Given the description of an element on the screen output the (x, y) to click on. 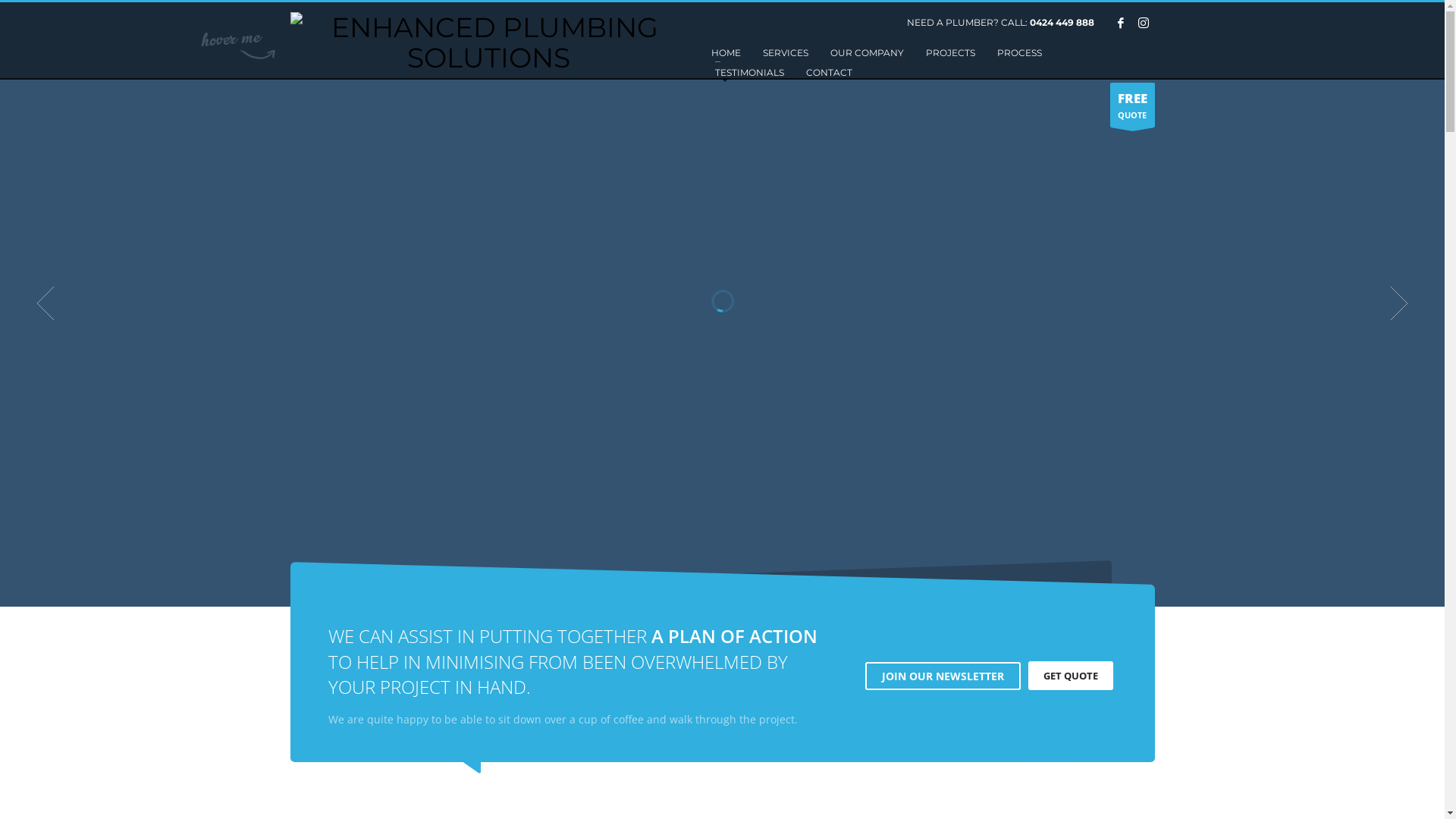
PROJECTS Element type: text (950, 52)
TESTIMONIALS Element type: text (749, 72)
HOME Element type: text (725, 52)
PROCESS Element type: text (1019, 52)
SERVICES Element type: text (785, 52)
GET QUOTE Element type: text (1070, 675)
Instagram Element type: hover (1142, 22)
JOIN OUR NEWSLETTER Element type: text (941, 676)
24/7 EMERGENCY RESPONSE Element type: hover (488, 42)
0424 449 888 Element type: text (1061, 22)
FREE
QUOTE Element type: text (1132, 104)
Facebook Element type: hover (1119, 22)
OUR COMPANY Element type: text (867, 52)
CONTACT Element type: text (829, 72)
